Given the description of an element on the screen output the (x, y) to click on. 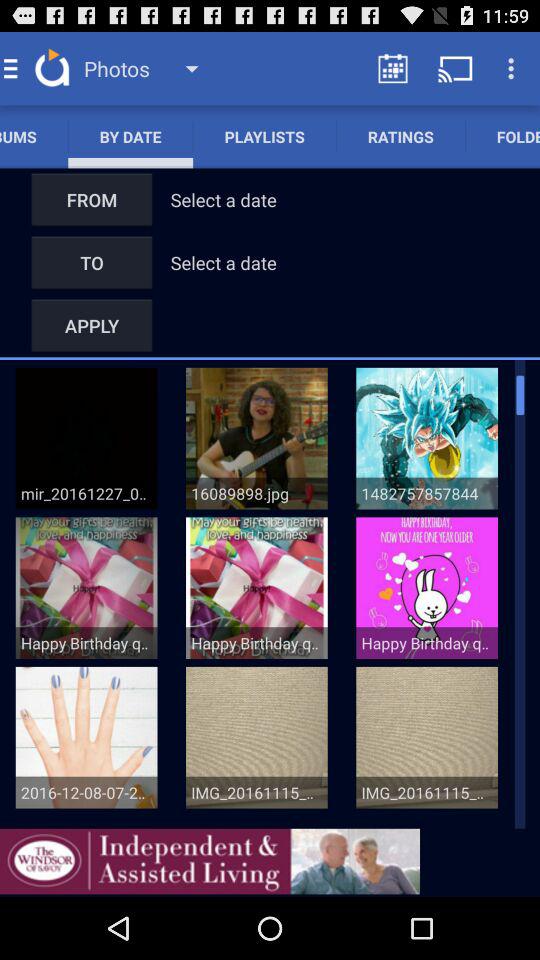
know about advertisement (210, 861)
